Given the description of an element on the screen output the (x, y) to click on. 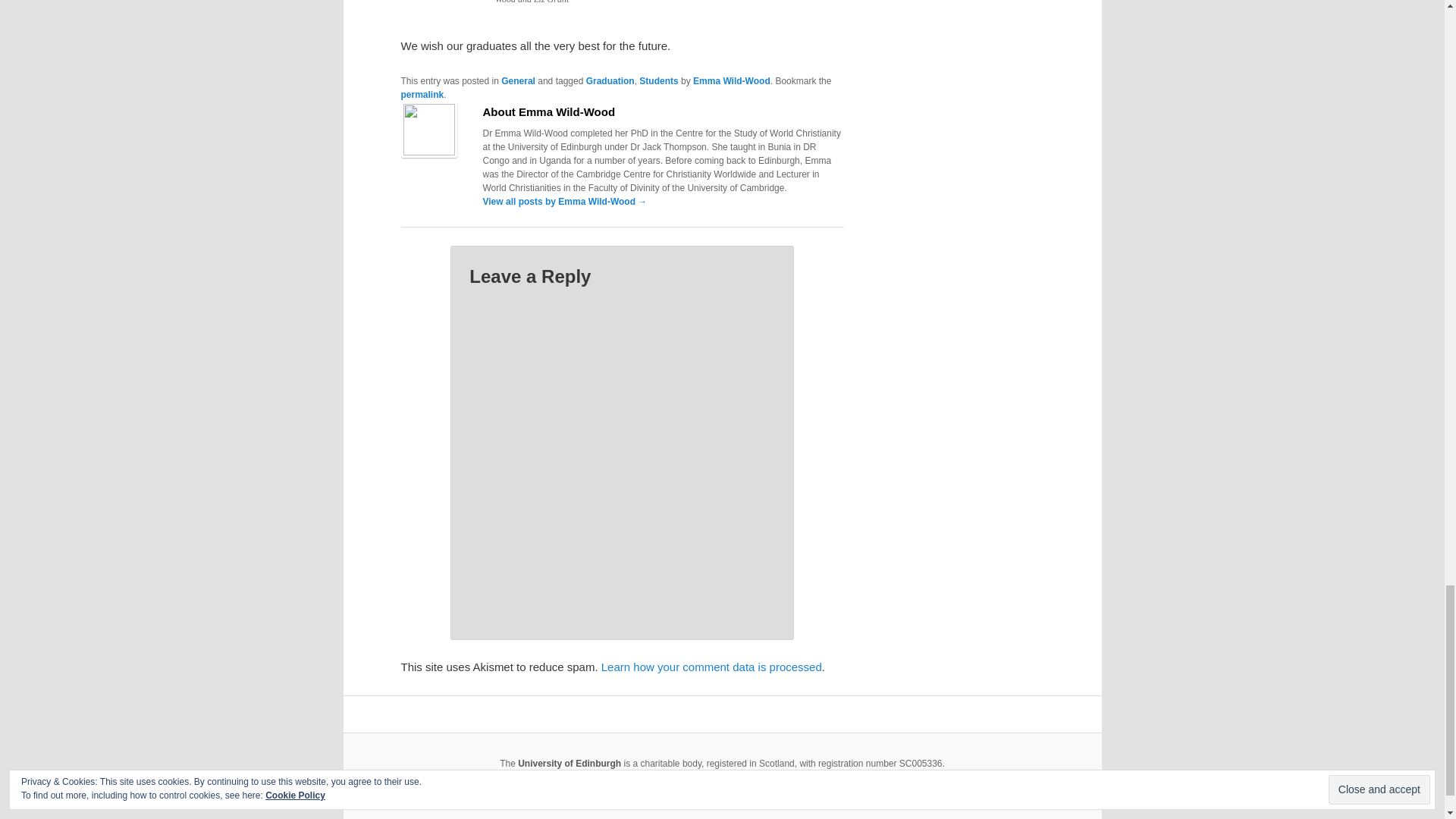
Learn how your comment data is processed (711, 666)
Emma Wild-Wood (731, 81)
General (517, 81)
Graduation (610, 81)
Students (658, 81)
Comment Form (621, 452)
permalink (422, 94)
